Given the description of an element on the screen output the (x, y) to click on. 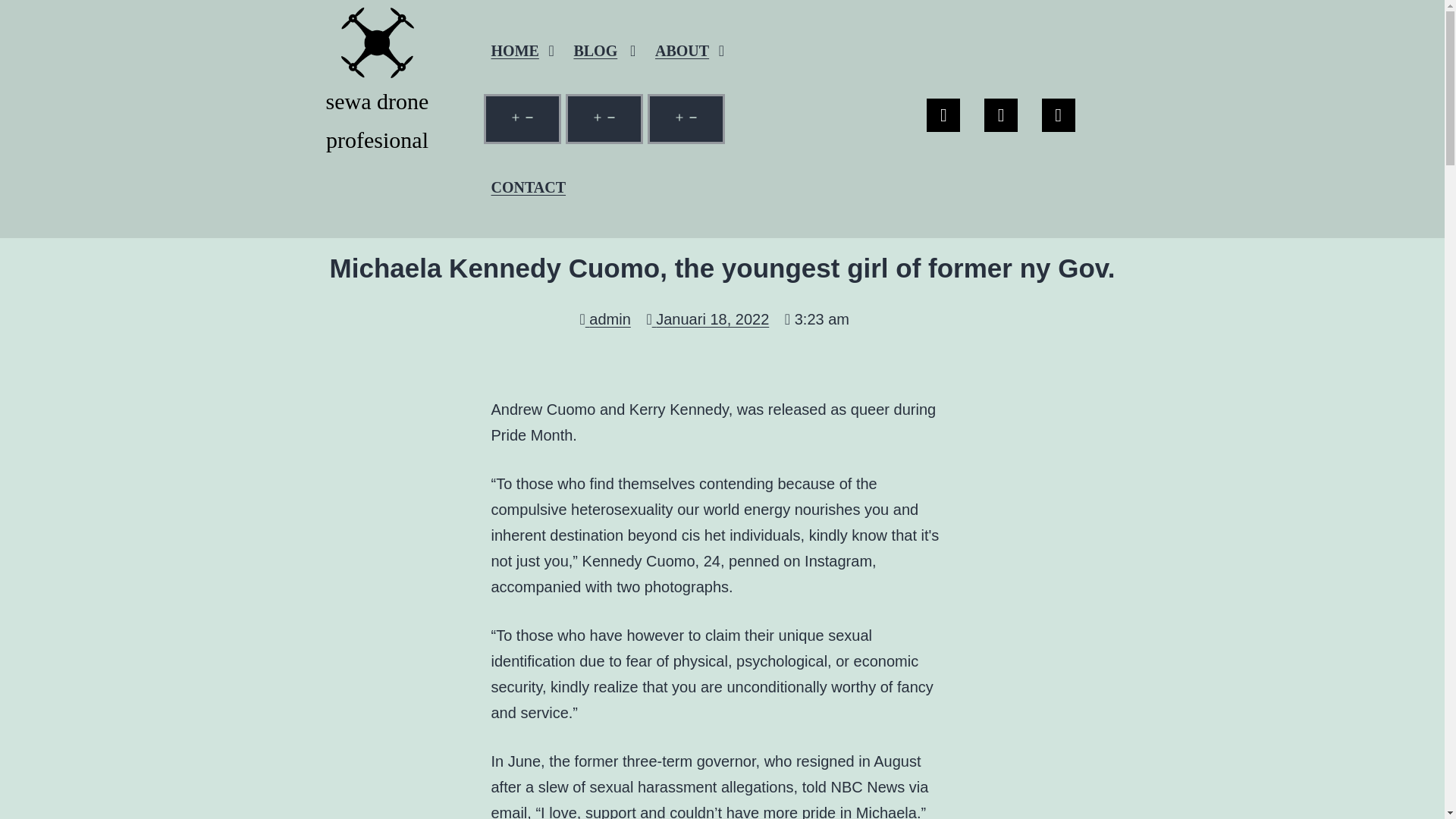
Open menu (521, 119)
3:23 am (816, 319)
Open menu (686, 119)
HOME (522, 50)
Open menu (604, 119)
ABOUT (689, 50)
CONTACT (528, 187)
admin (604, 319)
BLOG (604, 50)
Januari 18, 2022 (707, 319)
sewa drone profesional (377, 84)
